Given the description of an element on the screen output the (x, y) to click on. 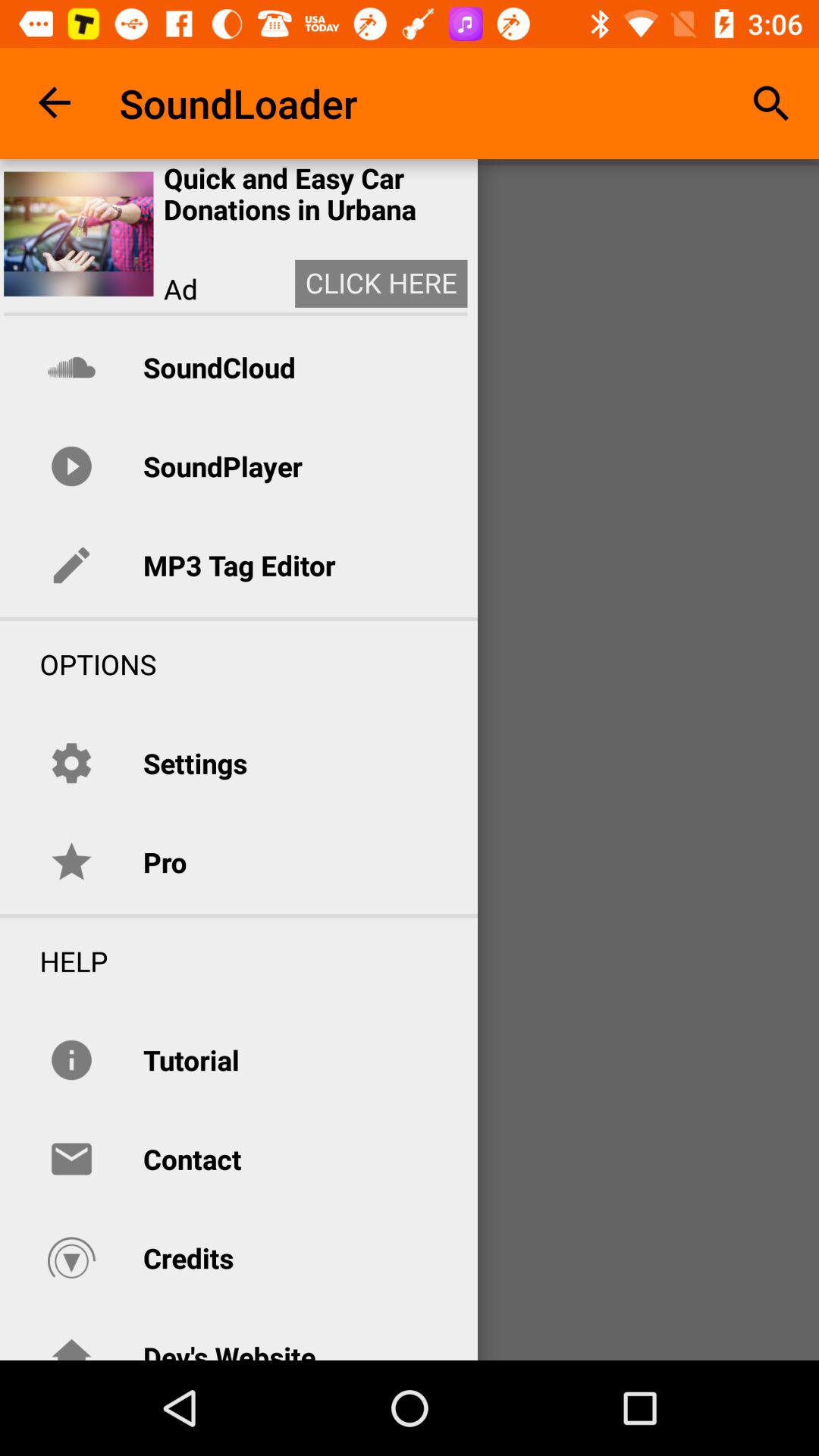
turn on the dev's website item (229, 1349)
